Given the description of an element on the screen output the (x, y) to click on. 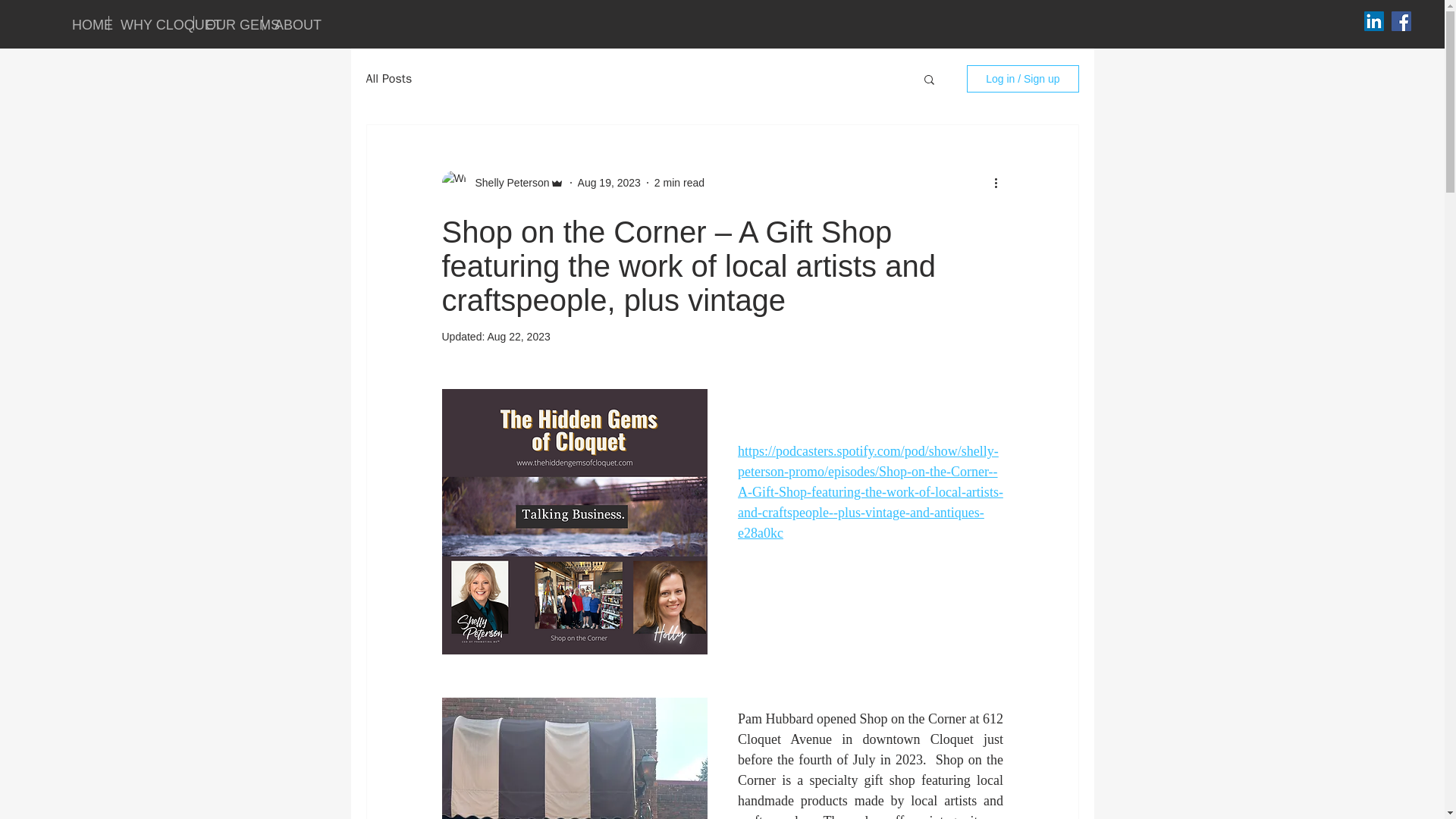
2 min read (678, 182)
Shelly Peterson (506, 182)
Aug 22, 2023 (518, 336)
WHY CLOQUET (151, 22)
HOME (84, 22)
ABOUT (289, 22)
OUR GEMS (227, 22)
All Posts (388, 78)
Aug 19, 2023 (609, 182)
